Given the description of an element on the screen output the (x, y) to click on. 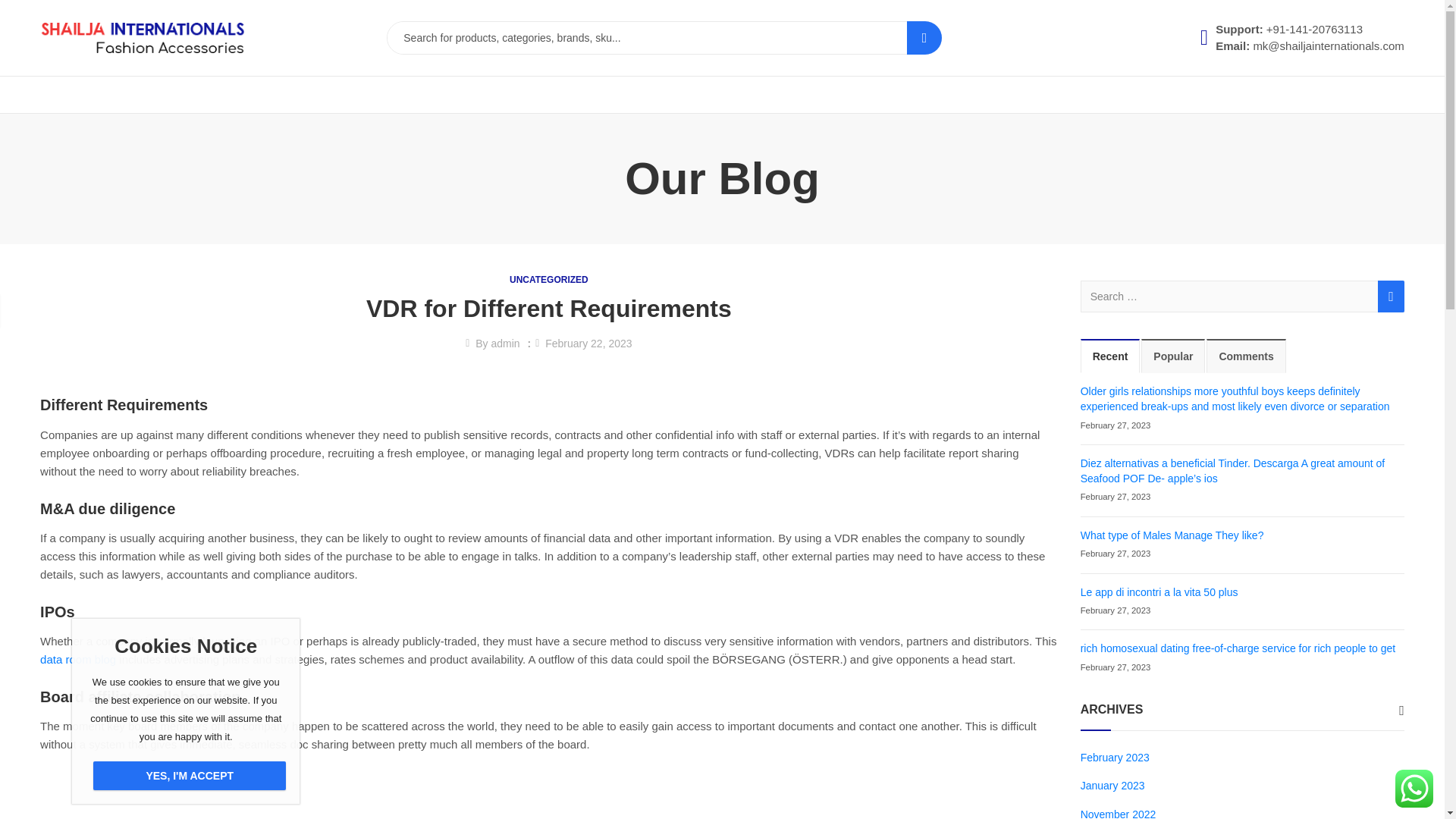
CONTACT US (271, 94)
UNCATEGORIZED (548, 279)
SEARCH (924, 37)
What type of Males Manage They like? (1171, 535)
admin (504, 343)
Posts by admin (504, 343)
data room blog (78, 658)
HOME (62, 94)
Le app di incontri a la vita 50 plus (1159, 591)
PRODUCTS (191, 94)
February 22, 2023 (587, 343)
ABOUT US (119, 94)
